Given the description of an element on the screen output the (x, y) to click on. 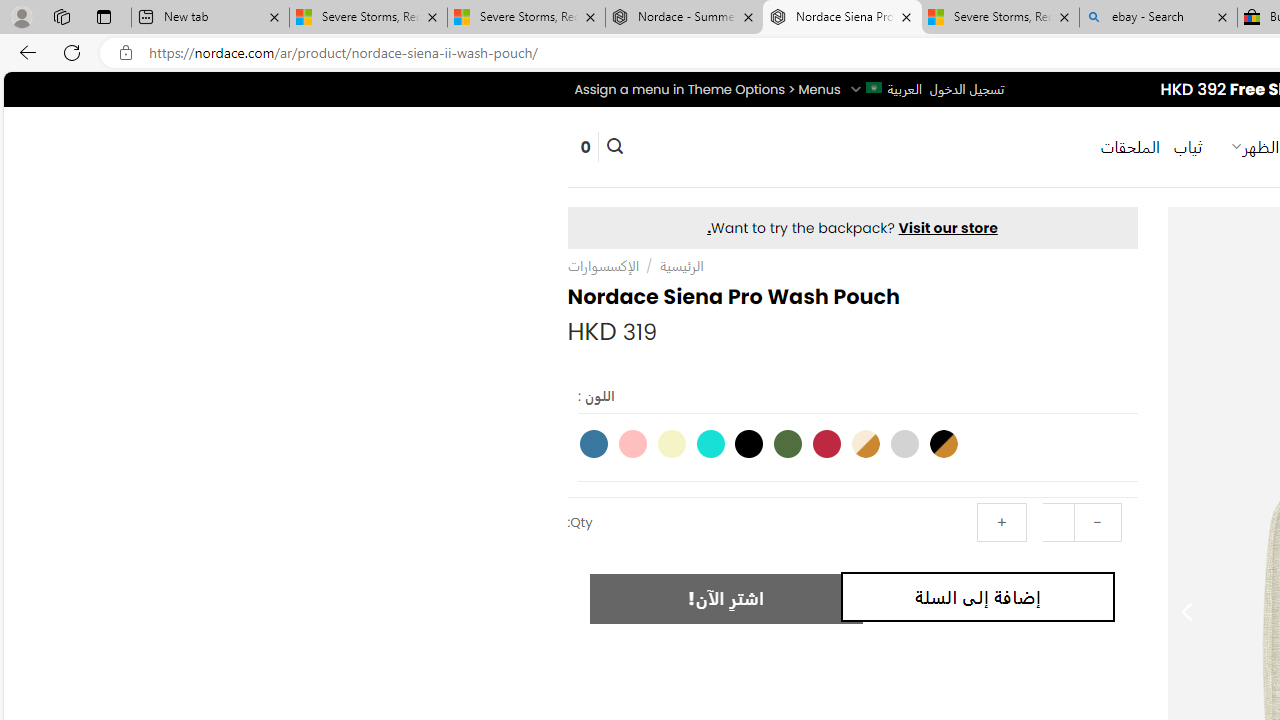
Visit our store. (852, 228)
- (1097, 521)
Assign a menu in Theme Options > Menus (706, 89)
Assign a menu in Theme Options > Menus (706, 89)
